Given the description of an element on the screen output the (x, y) to click on. 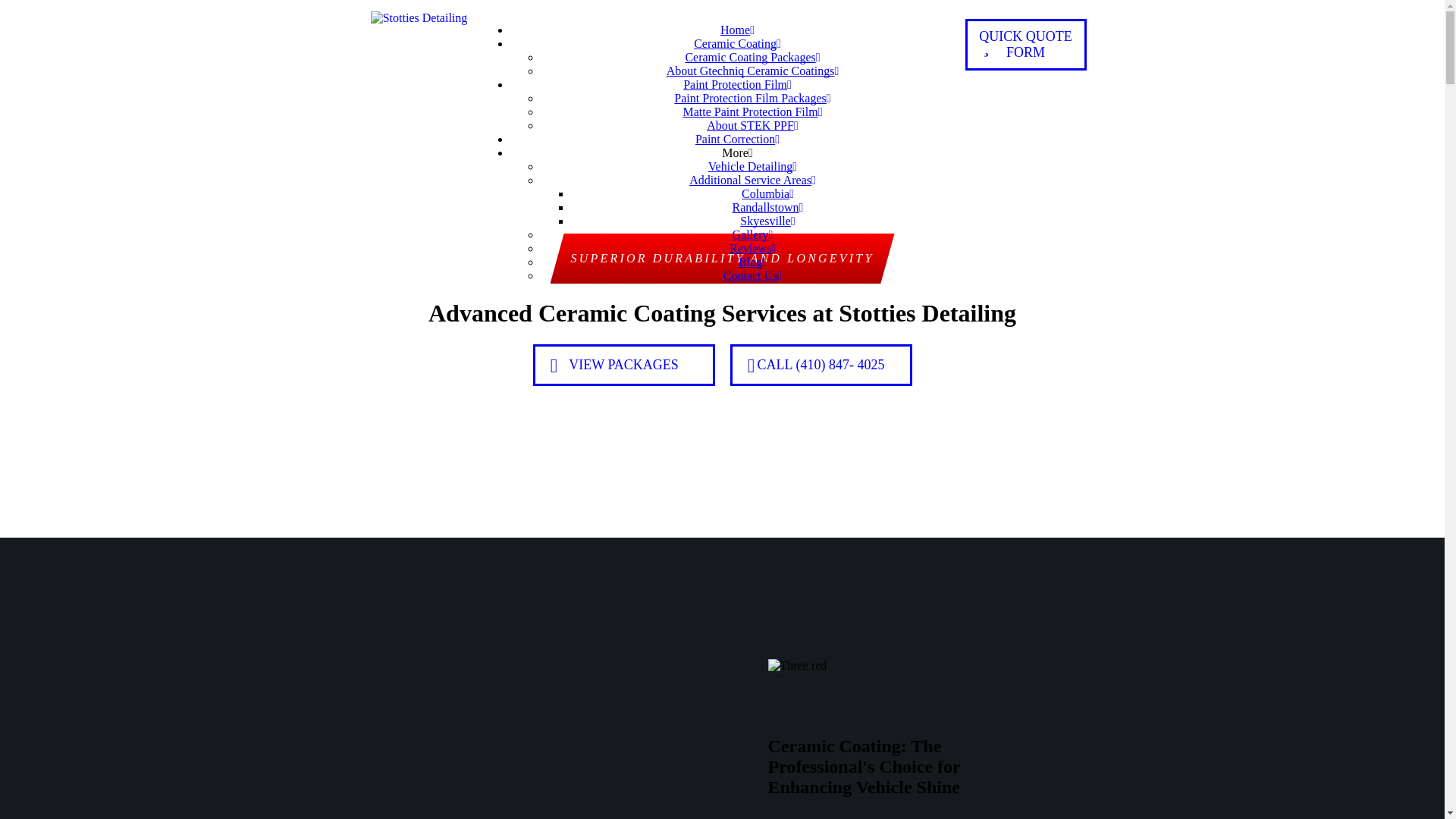
About Gtechniq Ceramic Coatings (753, 70)
Skyesville (766, 220)
Paint Protection Film (737, 83)
Vehicle Detailing (751, 165)
Paint Protection Film Packages (751, 97)
Additional Service Areas (751, 179)
Columbia (767, 193)
Paint Correction (736, 138)
About STEK PPF (751, 124)
Randallstown (767, 206)
